Given the description of an element on the screen output the (x, y) to click on. 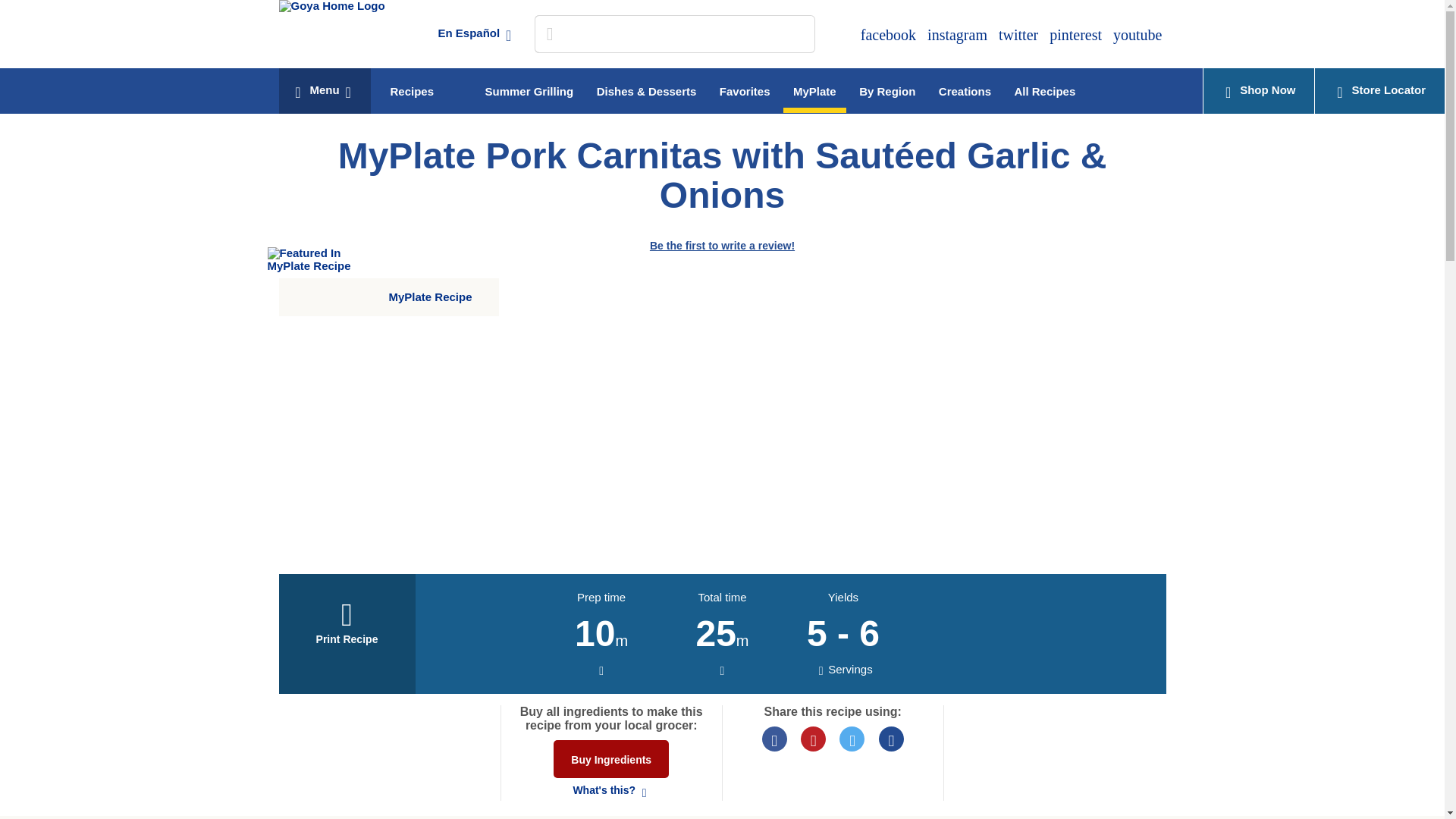
sub: By Region (886, 87)
sub: Favorites (745, 87)
sub: All Recipes (1044, 87)
sub: MyPlate  (814, 90)
sub: Summer Grilling (528, 87)
sub: Creations (964, 87)
